Given the description of an element on the screen output the (x, y) to click on. 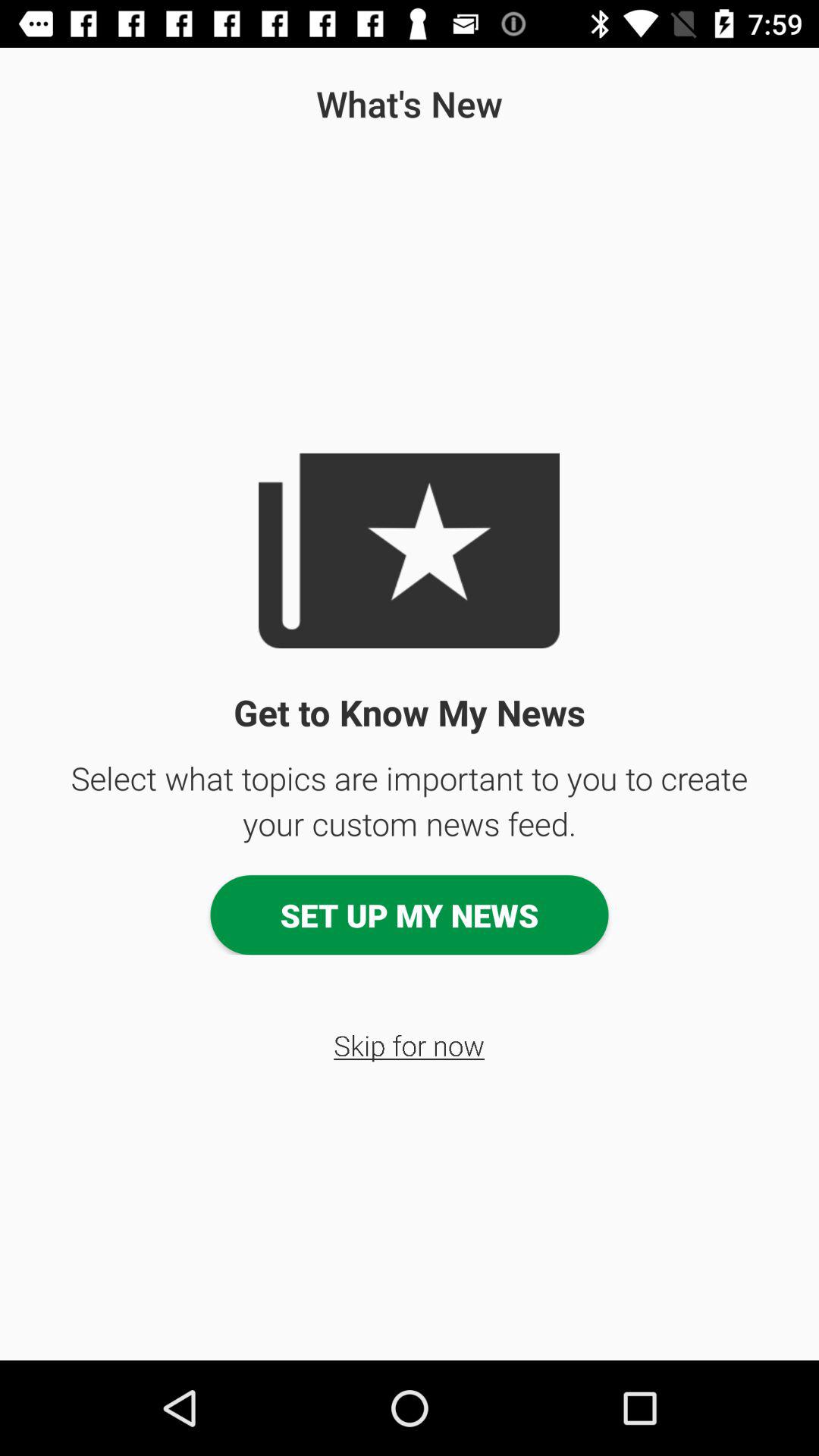
select set up my item (409, 914)
